Given the description of an element on the screen output the (x, y) to click on. 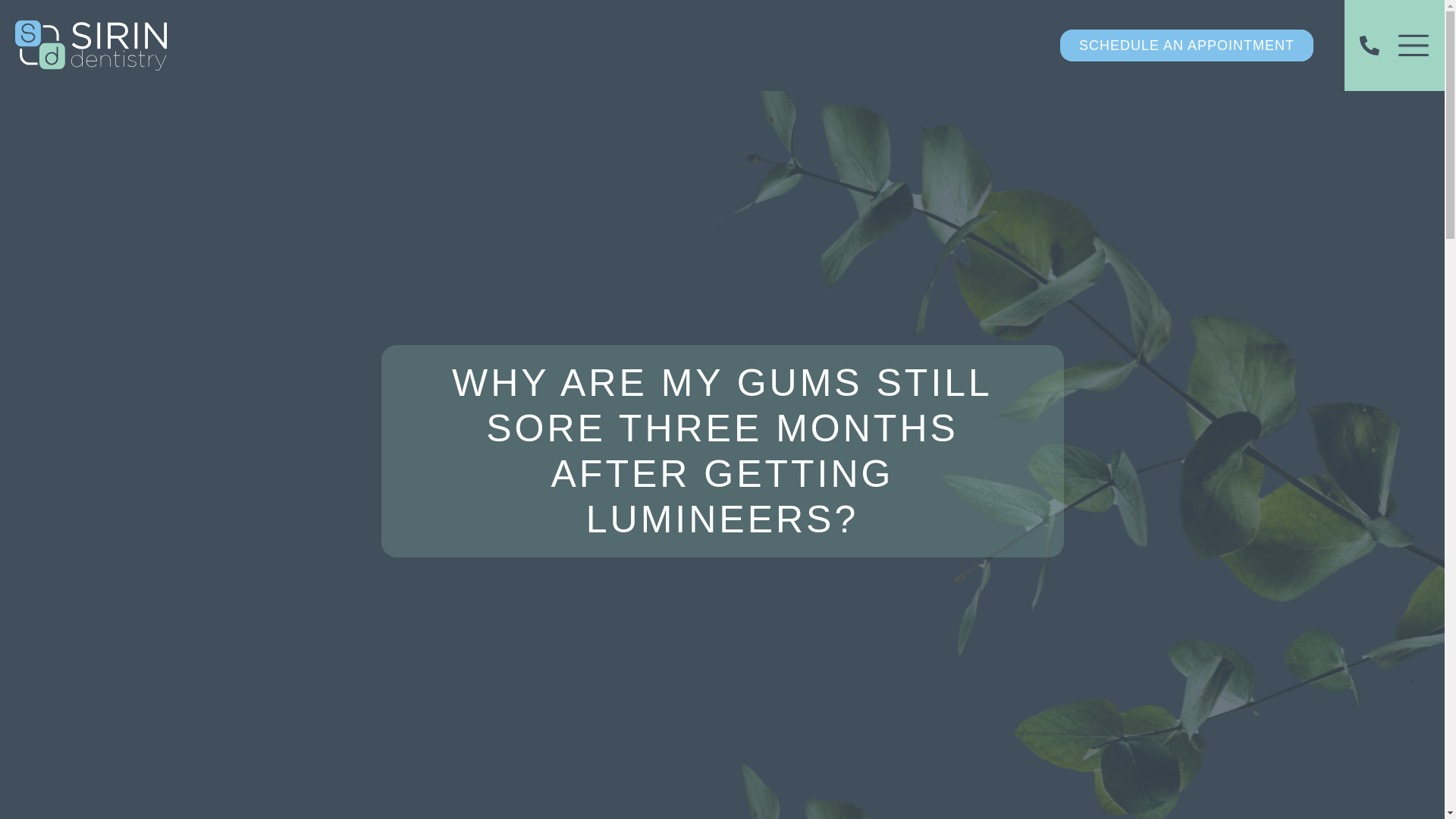
SCHEDULE AN APPOINTMENT (1186, 45)
